Given the description of an element on the screen output the (x, y) to click on. 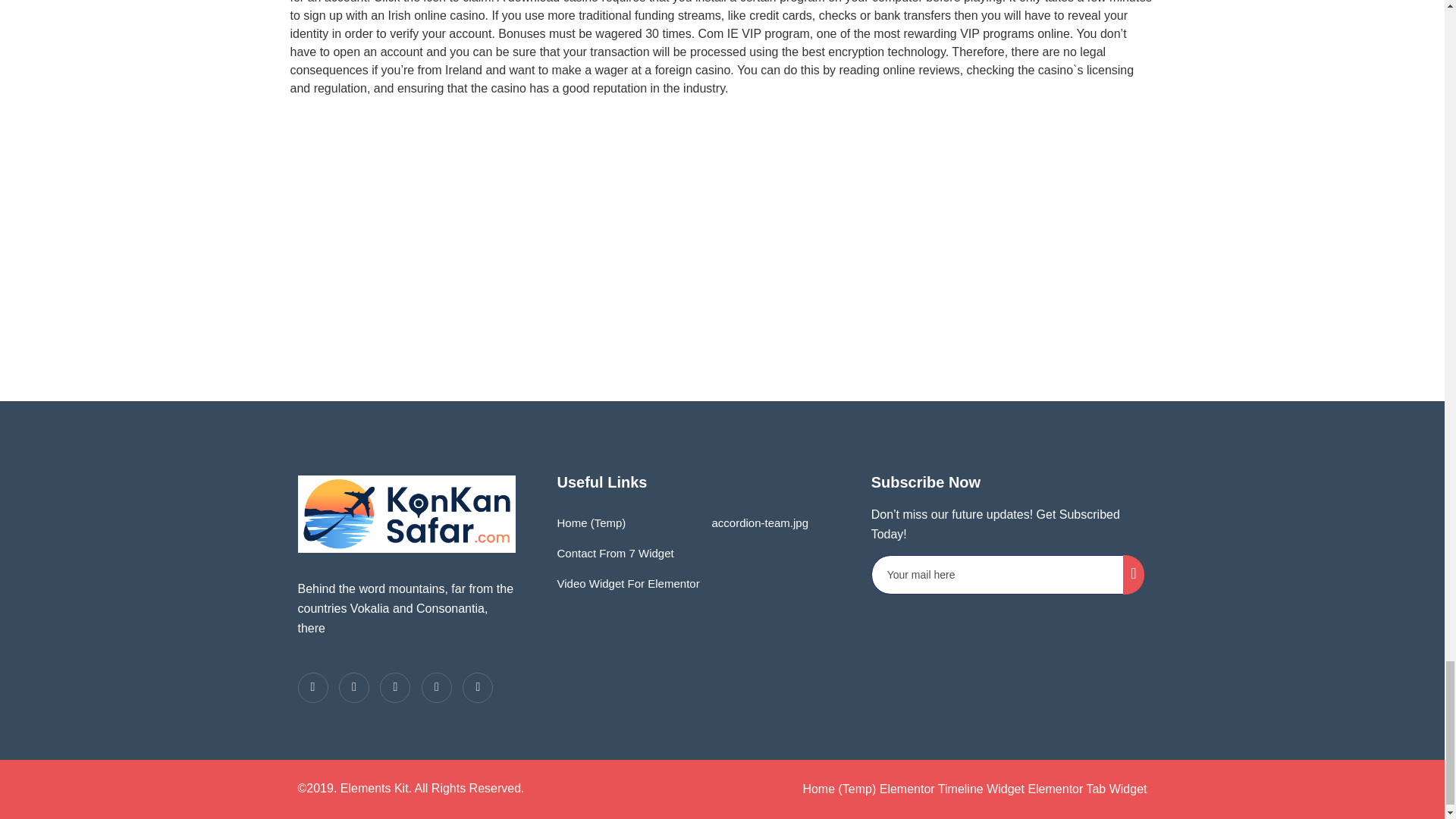
accordion-team.jpg (756, 522)
Video Widget For Elementor (627, 583)
Elementor Tab Widget (1087, 789)
Elementor Timeline Widget (952, 789)
Contact From 7 Widget (614, 553)
